Given the description of an element on the screen output the (x, y) to click on. 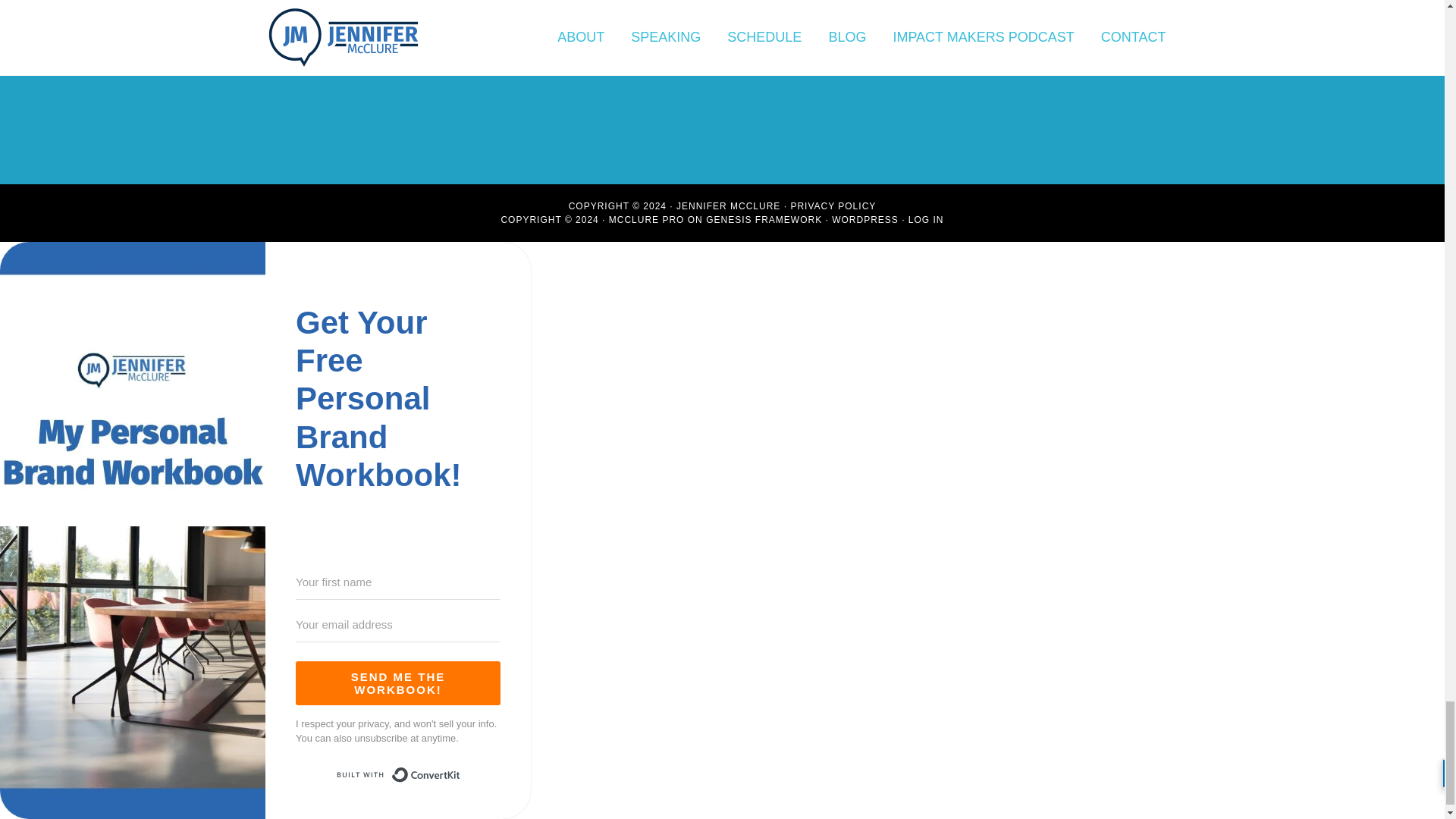
JENNIFER MCCLURE (728, 205)
GENESIS FRAMEWORK (764, 219)
MCCLURE PRO (646, 219)
PRIVACY POLICY (833, 205)
